Given the description of an element on the screen output the (x, y) to click on. 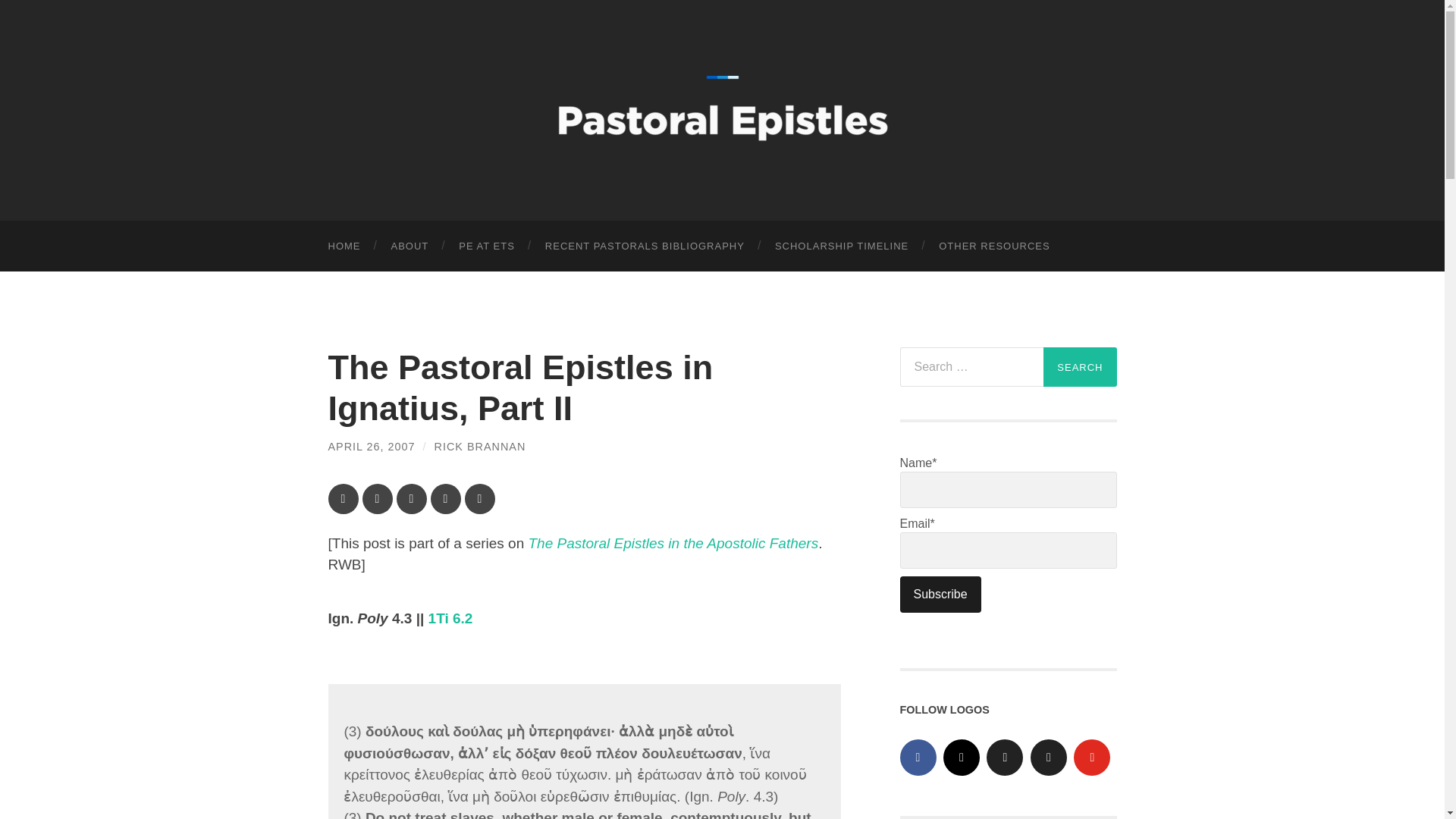
RICK BRANNAN (479, 446)
Instagram (961, 757)
SCHOLARSHIP TIMELINE (841, 245)
Posts by Rick Brannan (479, 446)
APRIL 26, 2007 (370, 446)
RECENT PASTORALS BIBLIOGRAPHY (644, 245)
Facebook (917, 757)
Search (1079, 366)
HOME (344, 245)
Subscribe (939, 594)
ABOUT (409, 245)
PE AT ETS (486, 245)
Pastoral Epistles (722, 108)
Search (1079, 366)
YouTube (1091, 757)
